Given the description of an element on the screen output the (x, y) to click on. 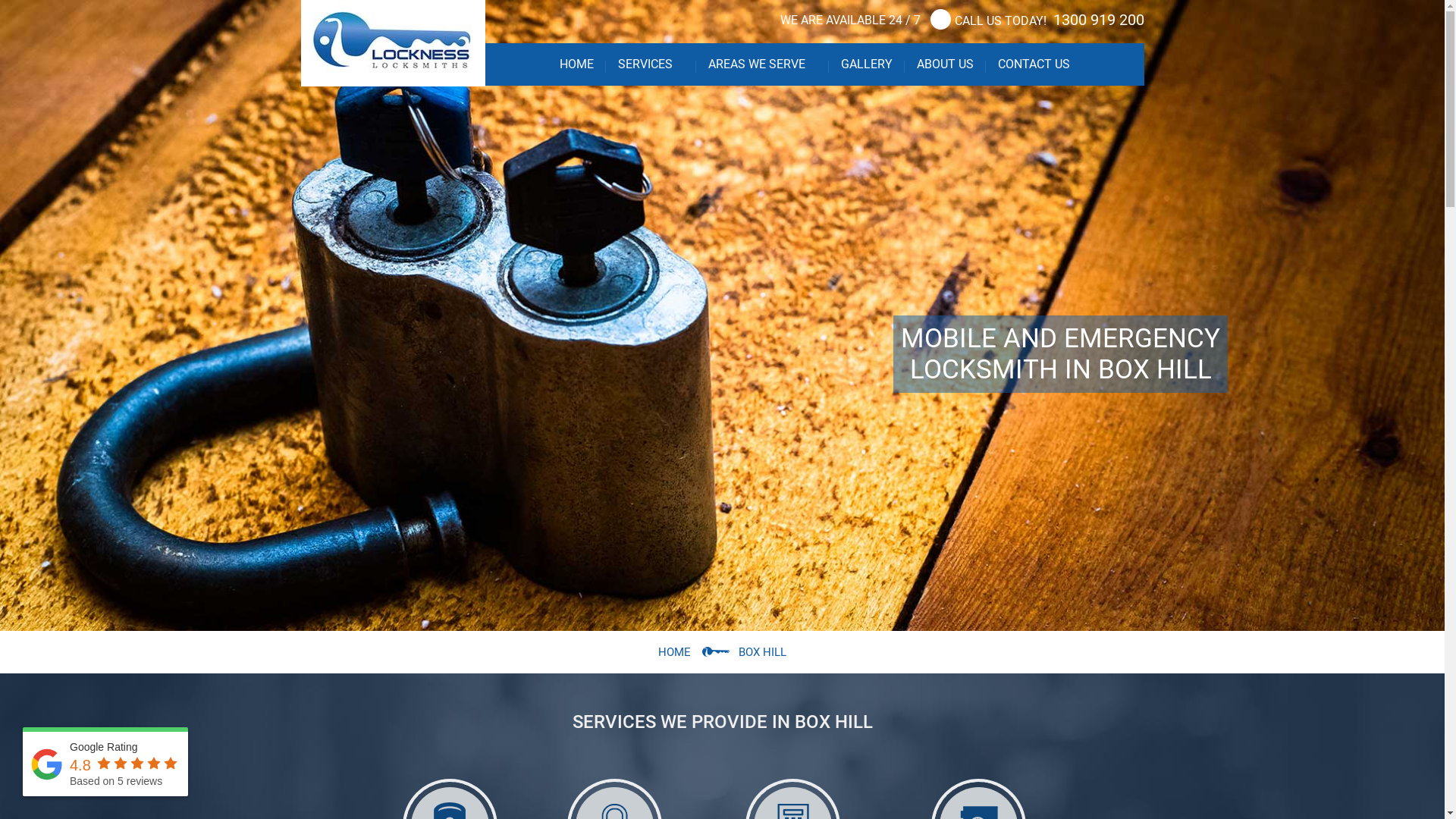
BOX HILL Element type: text (762, 651)
1300 919 200 Element type: text (1096, 19)
HOME Element type: text (576, 64)
AREAS WE SERVE Element type: text (762, 64)
ABOUT US Element type: text (944, 64)
SERVICES Element type: text (650, 64)
HOME Element type: text (674, 651)
GALLERY Element type: text (865, 64)
CONTACT US Element type: text (1033, 64)
